Given the description of an element on the screen output the (x, y) to click on. 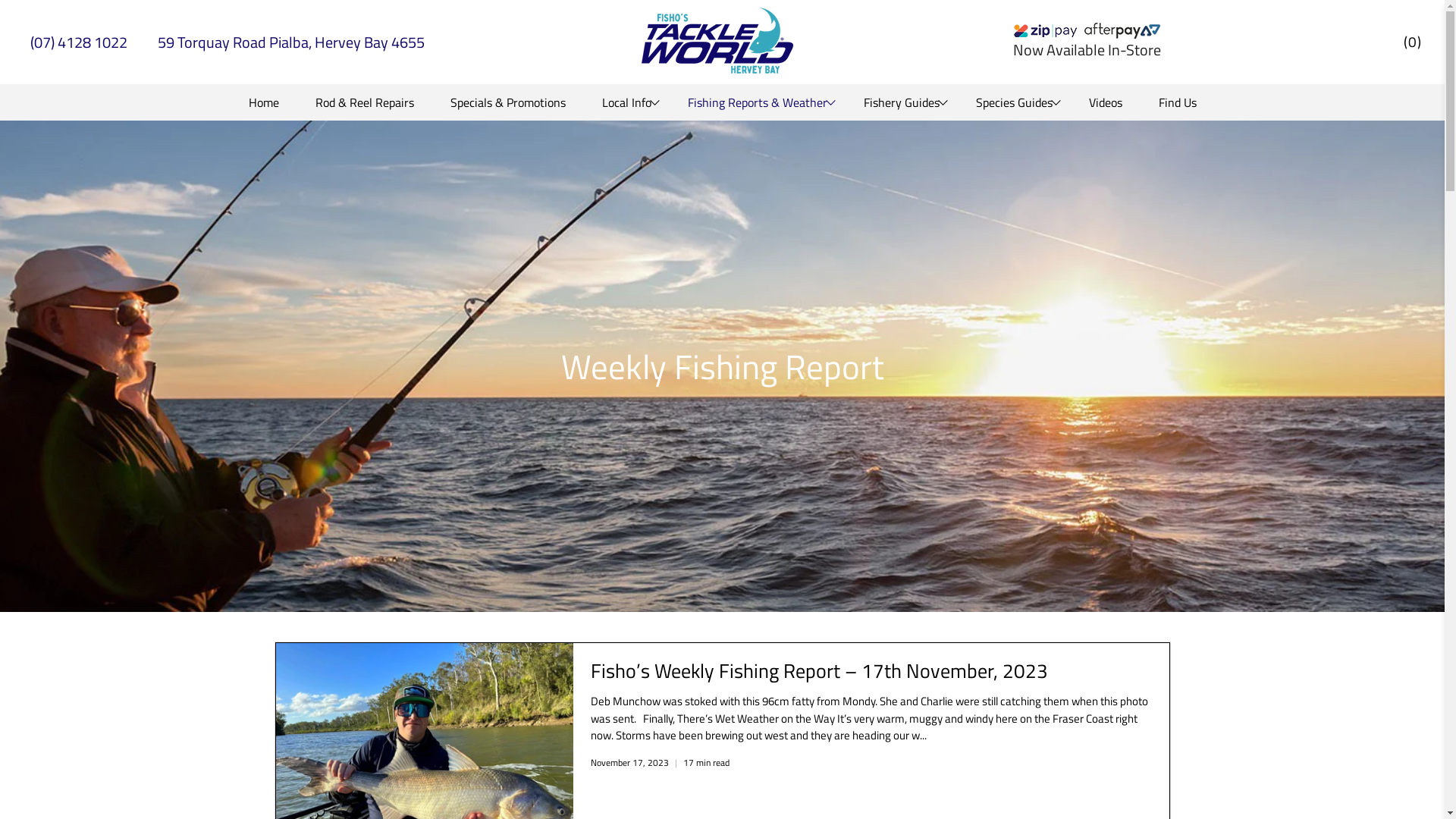
Fisho's Tackle World Element type: hover (717, 42)
Fishing Reports & Weather Element type: text (756, 102)
Fishery Guides Element type: text (900, 102)
Videos Element type: text (1105, 102)
(07) 4128 1022 Element type: text (78, 41)
Local Info Element type: text (626, 102)
Species Guides Element type: text (1013, 102)
(0) Element type: text (1412, 42)
Home Element type: text (263, 102)
59 Torquay Road Pialba, Hervey Bay 4655 Element type: text (290, 41)
Rod & Reel Repairs Element type: text (364, 102)
Specials & Promotions Element type: text (507, 102)
Find Us Element type: text (1177, 102)
